Given the description of an element on the screen output the (x, y) to click on. 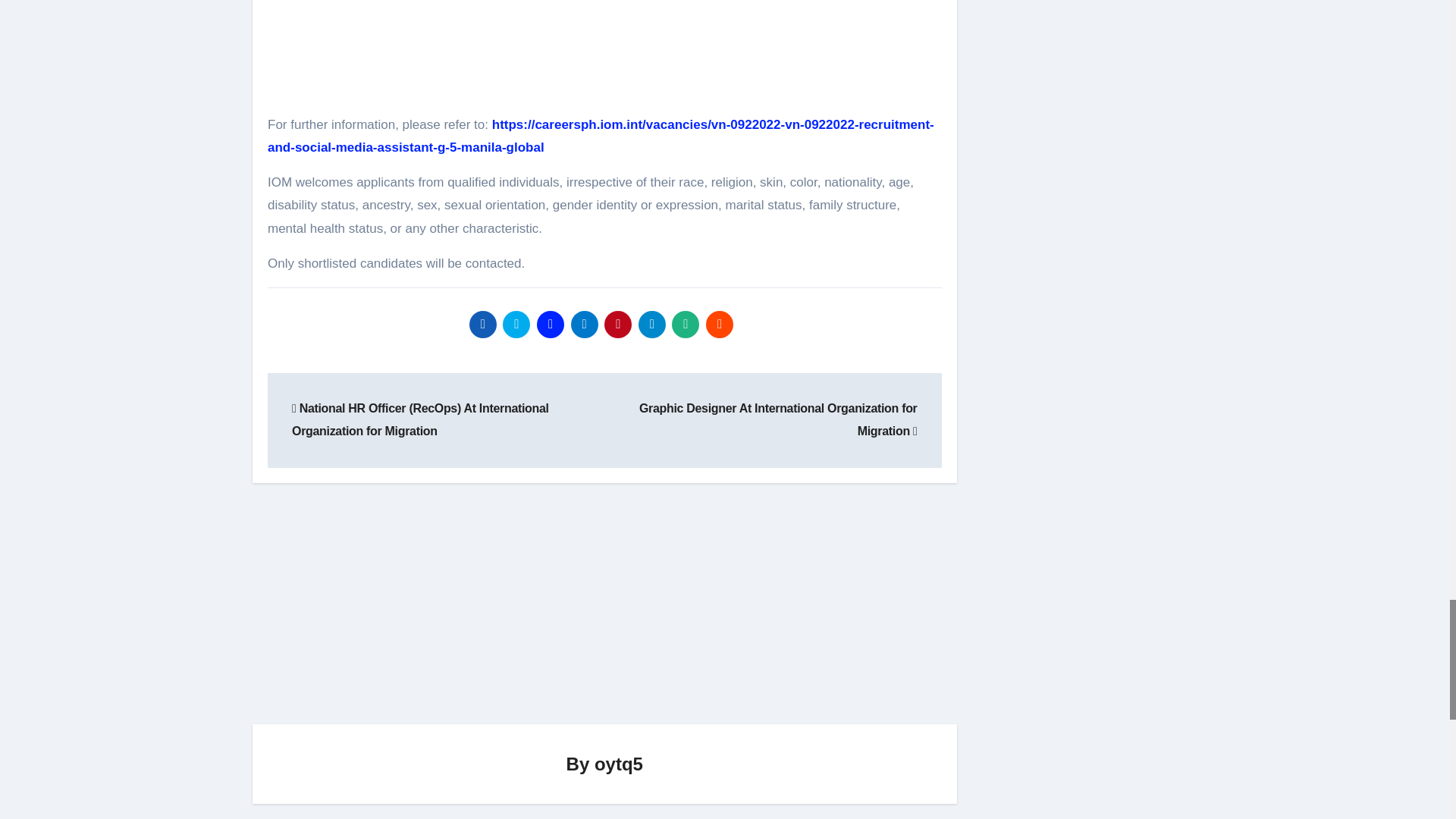
Graphic Designer At International Organization for Migration (778, 419)
oytq5 (618, 763)
